Given the description of an element on the screen output the (x, y) to click on. 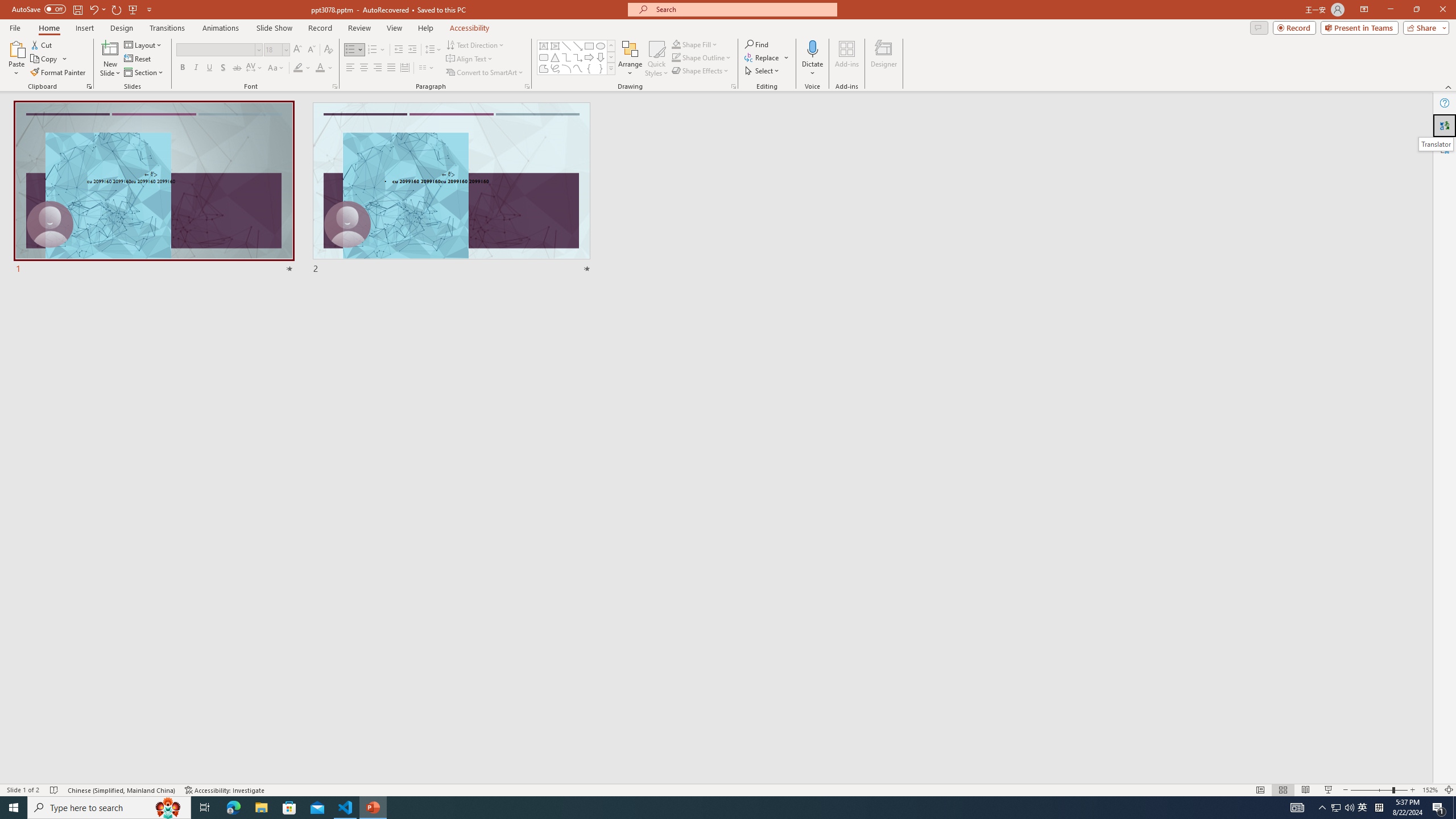
Save (77, 9)
Open (285, 49)
Zoom In (1412, 790)
Text Highlight Color Yellow (297, 67)
